Given the description of an element on the screen output the (x, y) to click on. 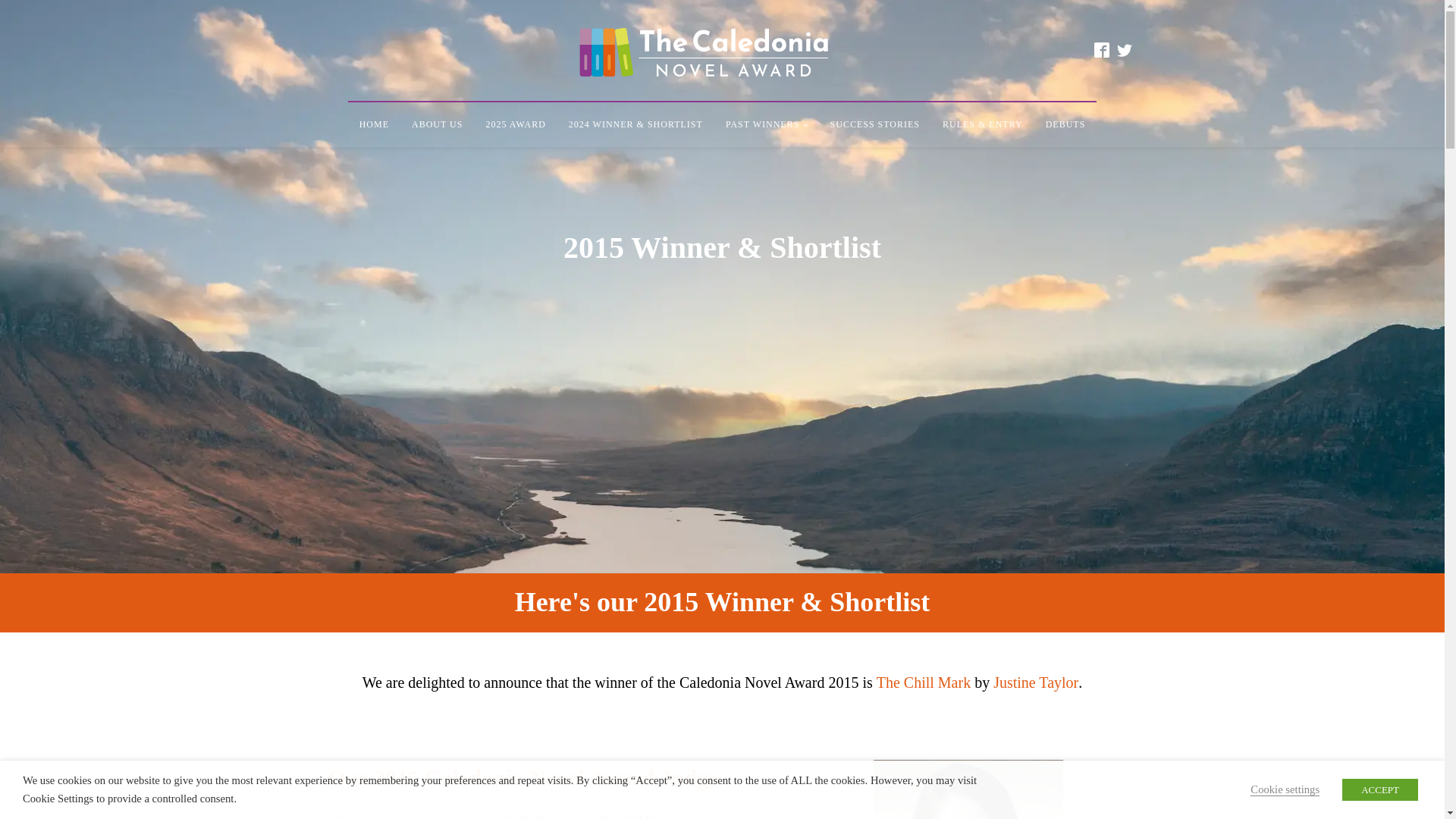
HOME (373, 123)
SUCCESS STORIES (874, 123)
ABOUT US (437, 123)
DEBUTS (1065, 123)
PAST WINNERS (766, 123)
2025 AWARD (515, 123)
